Given the description of an element on the screen output the (x, y) to click on. 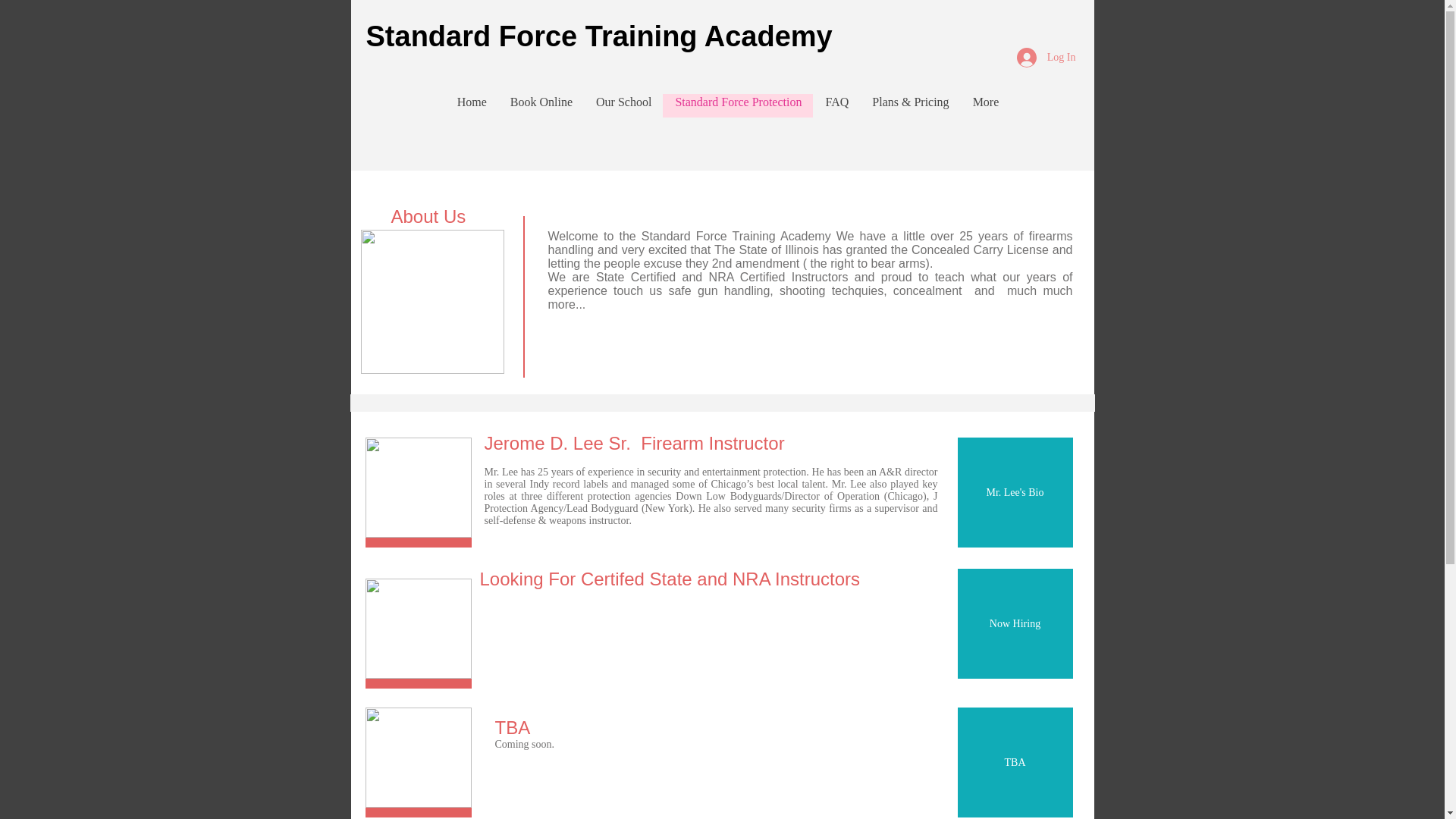
BADGE SCHOOL 2.png (432, 301)
Standard Force Protection (737, 105)
Home (471, 105)
Book Online (540, 105)
TBA (1013, 762)
Mr. Lee's Bio (1013, 492)
FAQ (836, 105)
Log In (1046, 57)
Jerome ID photo.jpg (418, 487)
Our School (622, 105)
instructor5.jpg (418, 628)
Now Hiring (1013, 623)
